Given the description of an element on the screen output the (x, y) to click on. 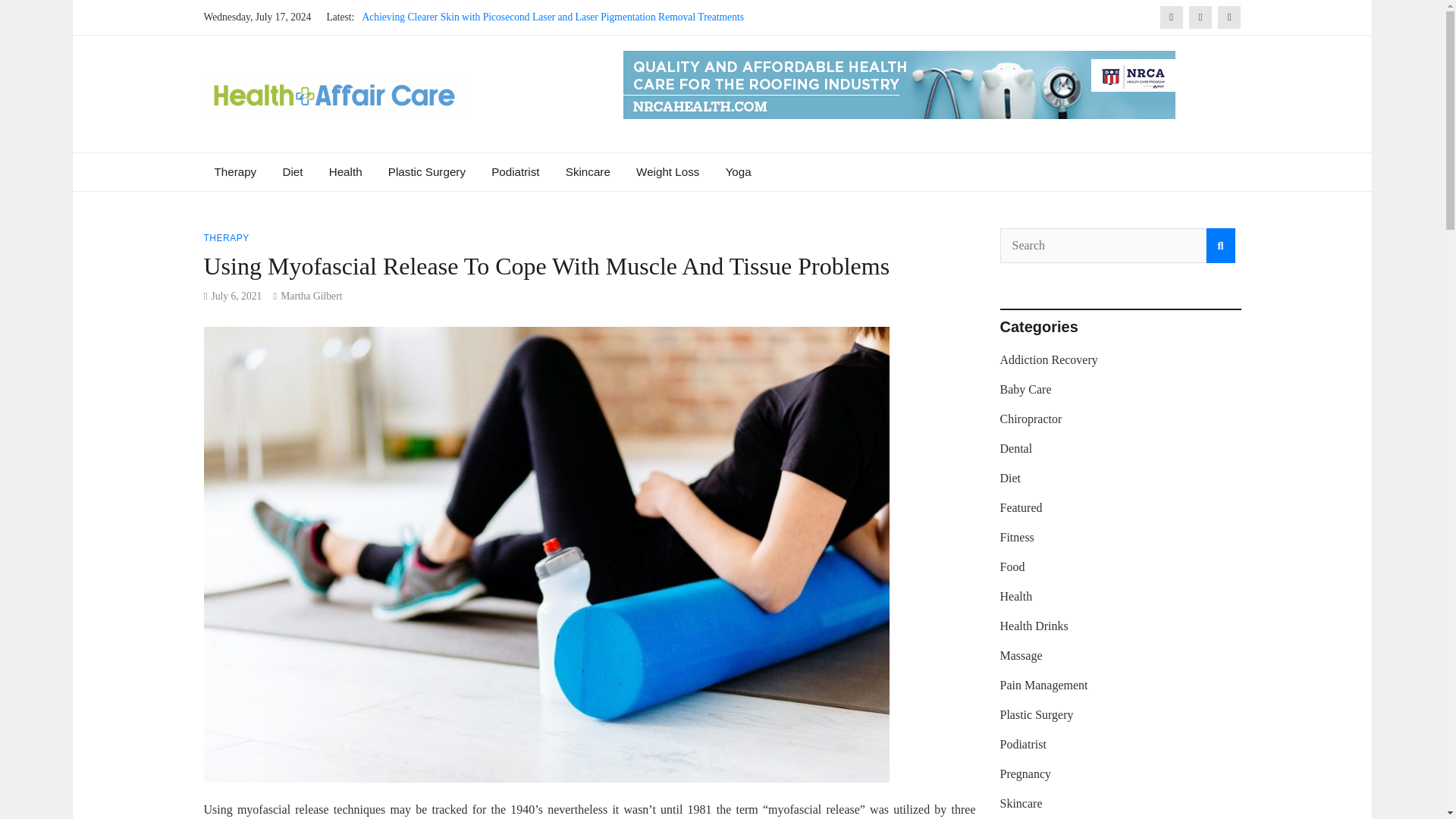
Therapy (235, 171)
July 6, 2021 (236, 296)
Health (345, 171)
Plastic Surgery (427, 171)
Skincare (587, 171)
Weight Loss (667, 171)
THERAPY (225, 237)
Podiatrist (515, 171)
Diet (292, 171)
Health Affair Care (356, 135)
Martha Gilbert (311, 296)
Yoga (738, 171)
